Given the description of an element on the screen output the (x, y) to click on. 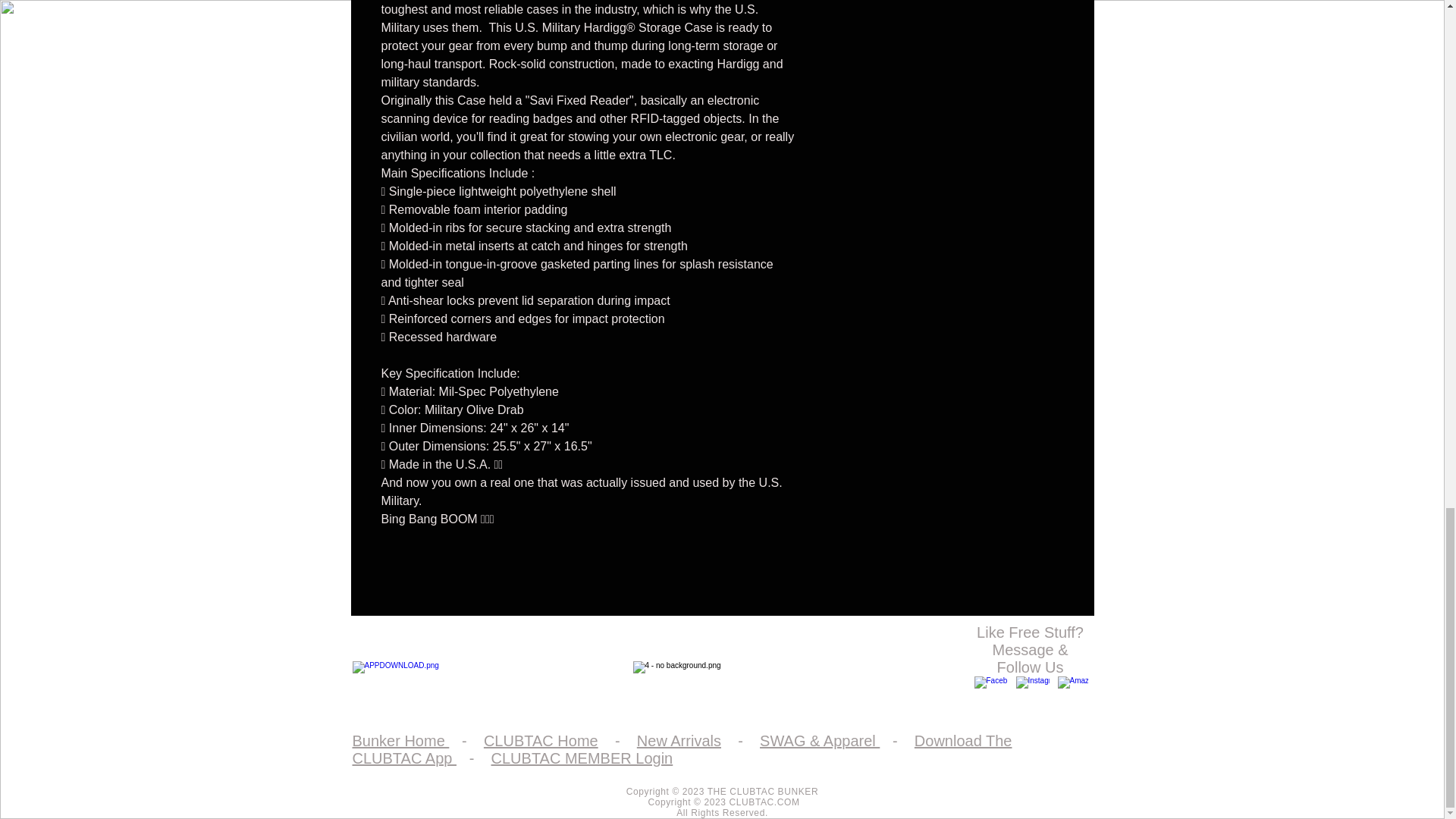
CLUBTAC Home (540, 740)
Bunker Home  (400, 740)
